Given the description of an element on the screen output the (x, y) to click on. 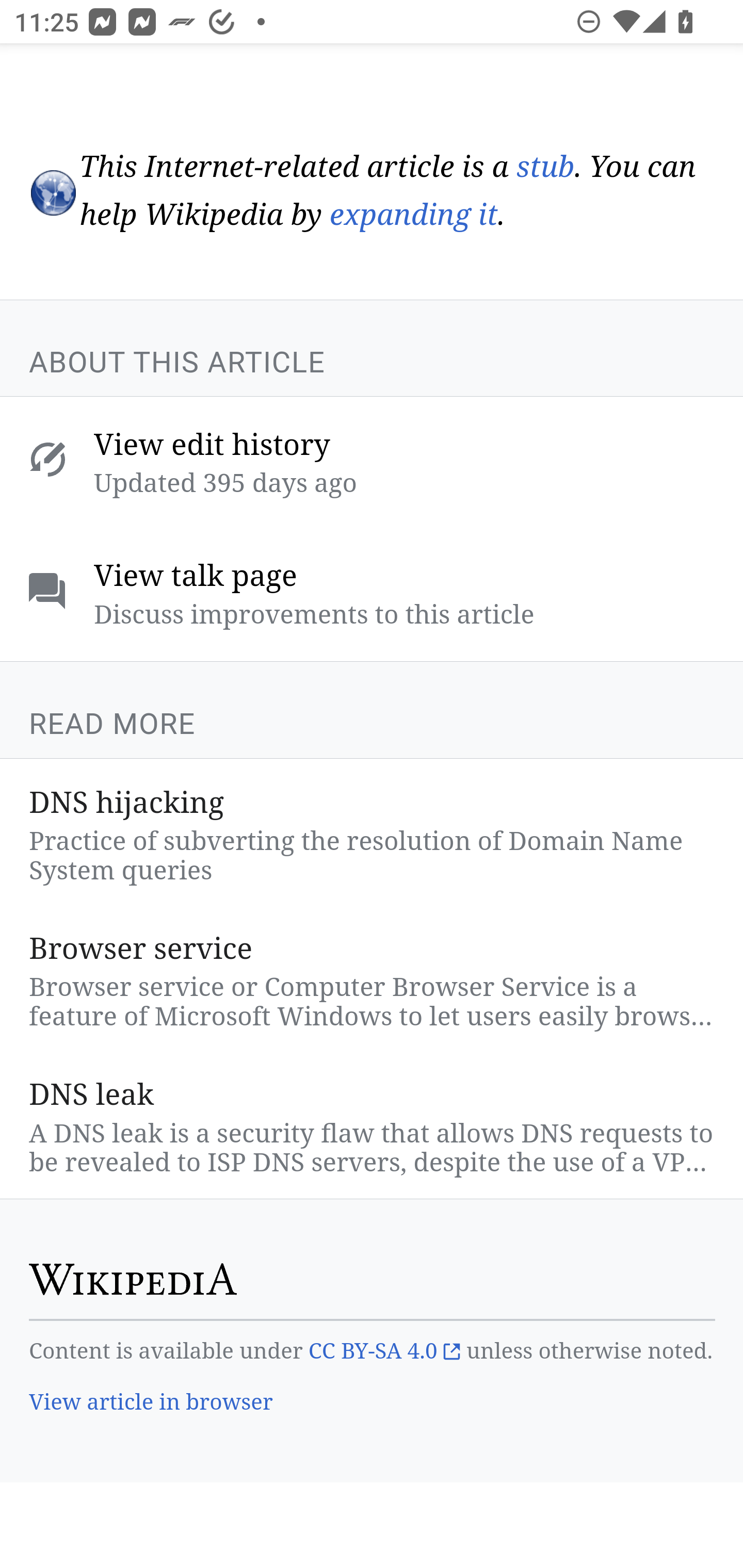
stub (544, 166)
Stub icon (51, 193)
expanding it (413, 217)
CC BY-SA 4.0 (384, 1352)
View article in browser (151, 1403)
